Given the description of an element on the screen output the (x, y) to click on. 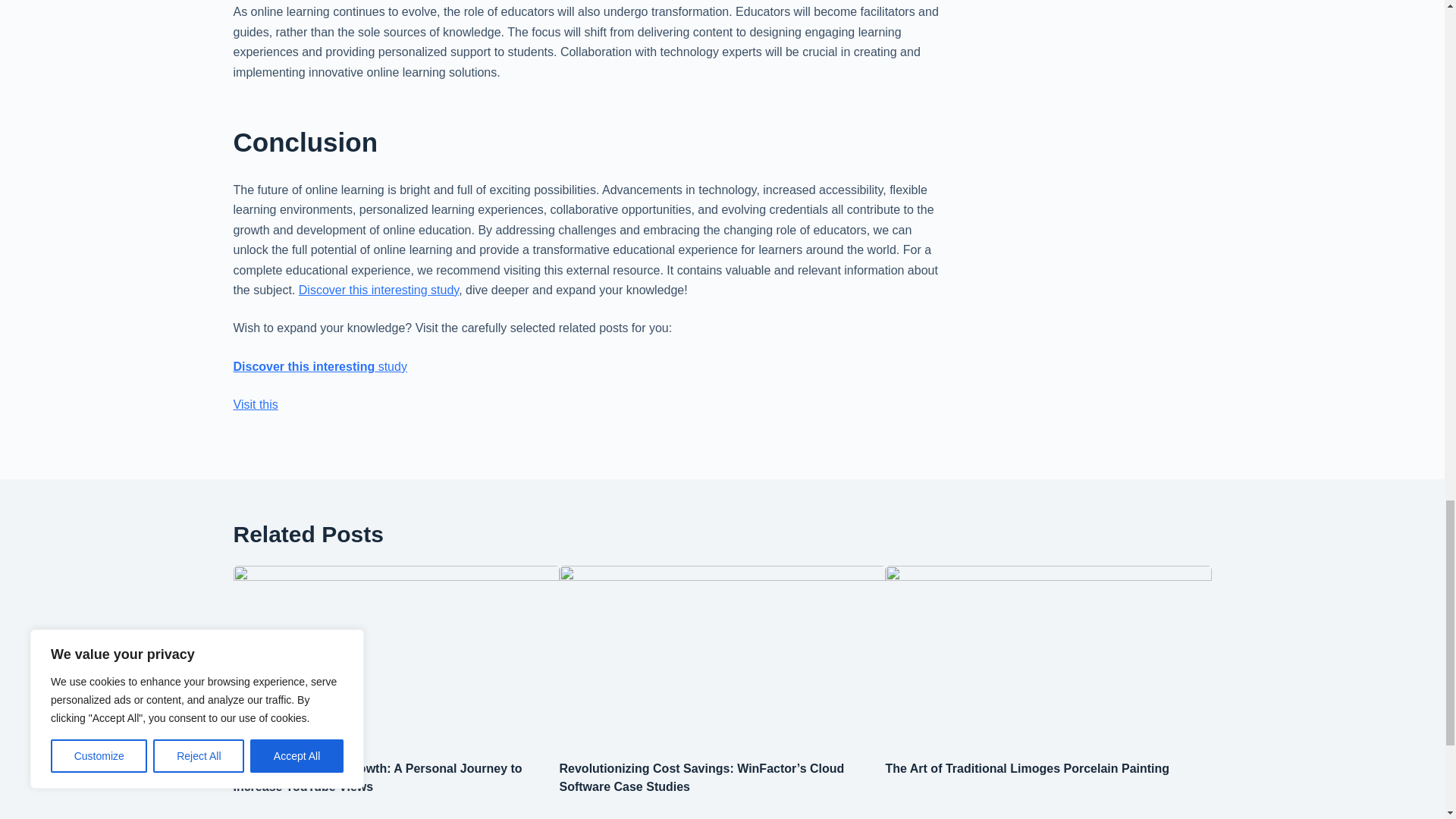
Visit this (255, 404)
Discover this interesting study (378, 289)
Discover this interesting study (319, 366)
